Given the description of an element on the screen output the (x, y) to click on. 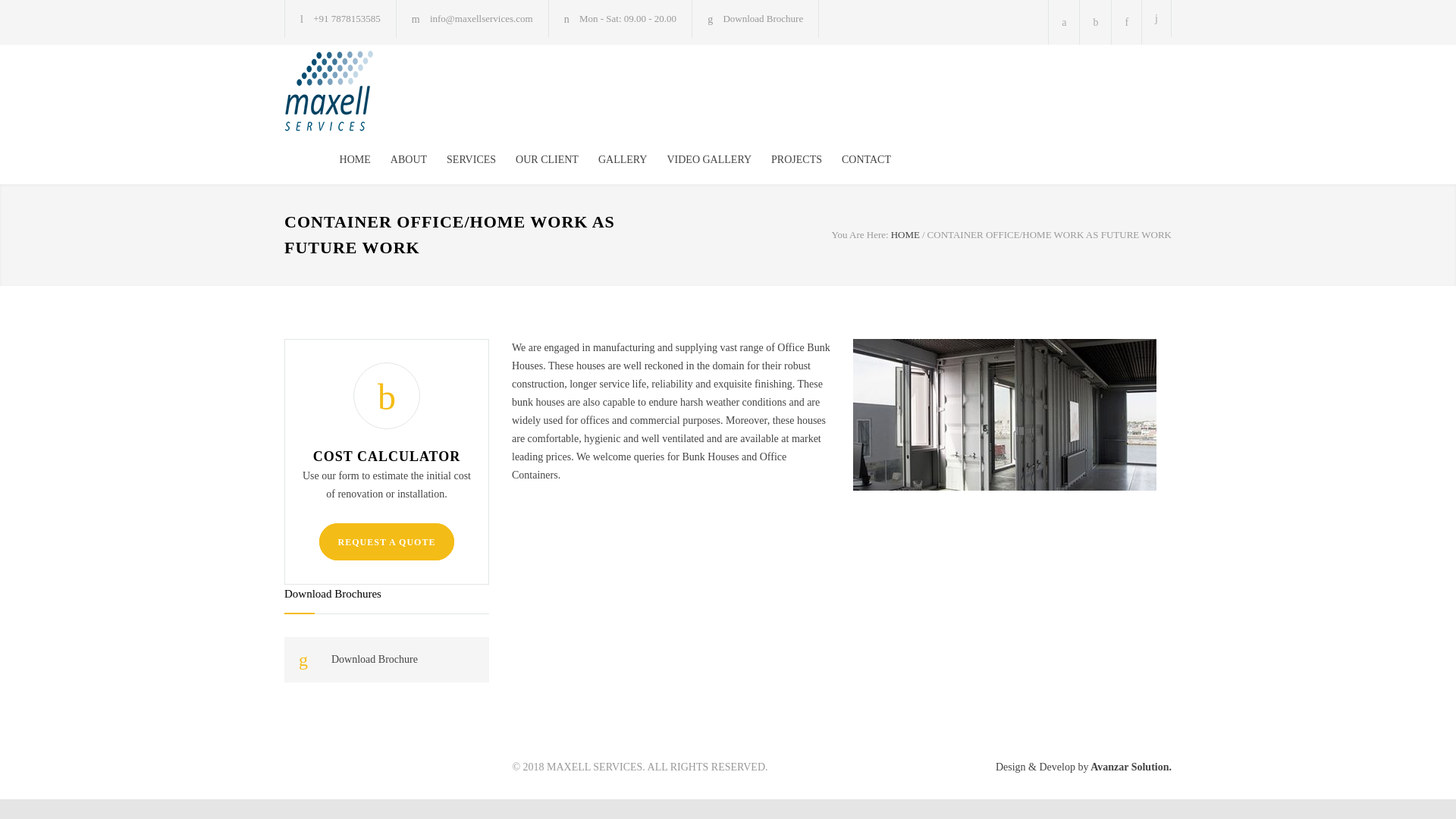
Search (1156, 18)
arcgency-stack-ii-shipping-containers-designboom-5001 (1004, 414)
VIDEO GALLERY (698, 159)
Download Brochure (386, 659)
HOME (905, 234)
CONTACT (856, 159)
Download Brochure (386, 659)
REQUEST A QUOTE (386, 541)
Maxell Services (423, 95)
REQUEST A QUOTE (386, 541)
Download Brochure (762, 18)
ABOUT (398, 159)
SERVICES (461, 159)
Home (905, 234)
PROJECTS (786, 159)
